Given the description of an element on the screen output the (x, y) to click on. 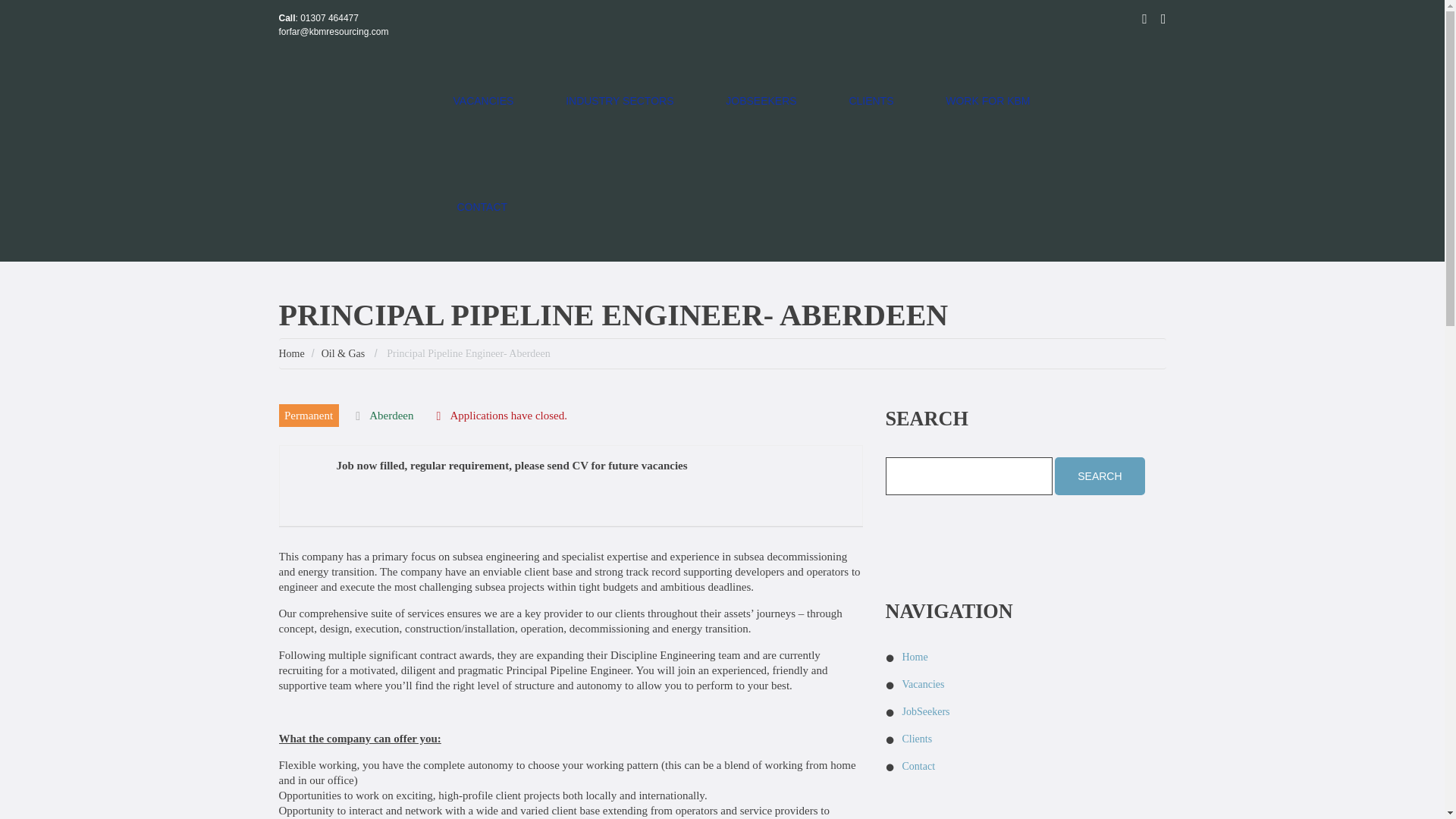
VACANCIES (483, 102)
JobSeekers (926, 711)
CONTACT (481, 208)
01307 464477 (328, 18)
Contact (919, 766)
INDUSTRY SECTORS (619, 102)
Home (915, 656)
Home (291, 353)
search (1099, 476)
Clients (917, 738)
search (1099, 476)
Aberdeen (391, 415)
search (1099, 476)
JOBSEEKERS (760, 102)
Vacancies (923, 684)
